Given the description of an element on the screen output the (x, y) to click on. 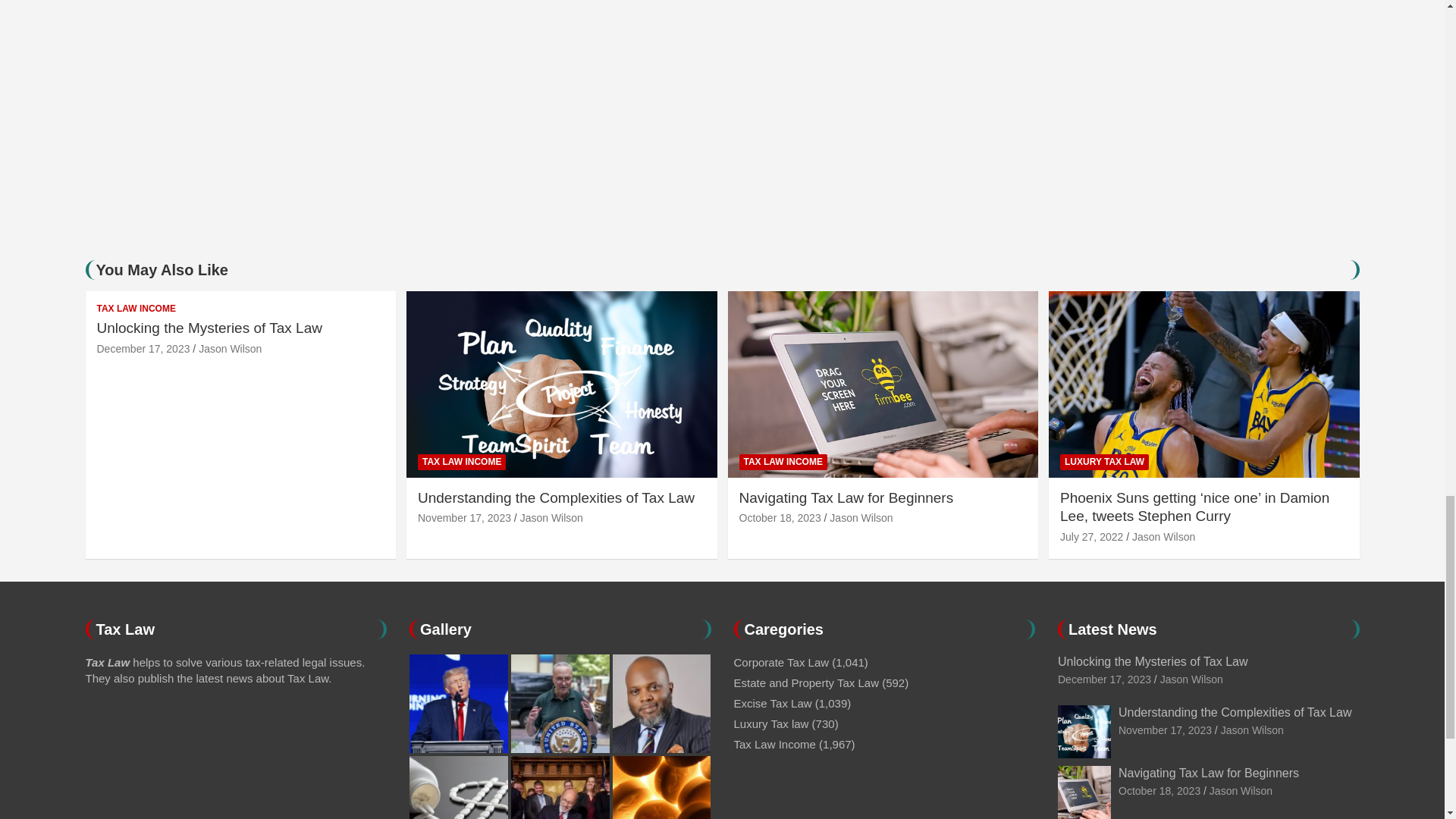
Understanding the Complexities of Tax Law (1164, 729)
Understanding the Complexities of Tax Law (464, 517)
Unlocking the Mysteries of Tax Law (1104, 679)
Navigating Tax Law for Beginners (779, 517)
Navigating Tax Law for Beginners (1158, 790)
Unlocking the Mysteries of Tax Law (143, 348)
